Given the description of an element on the screen output the (x, y) to click on. 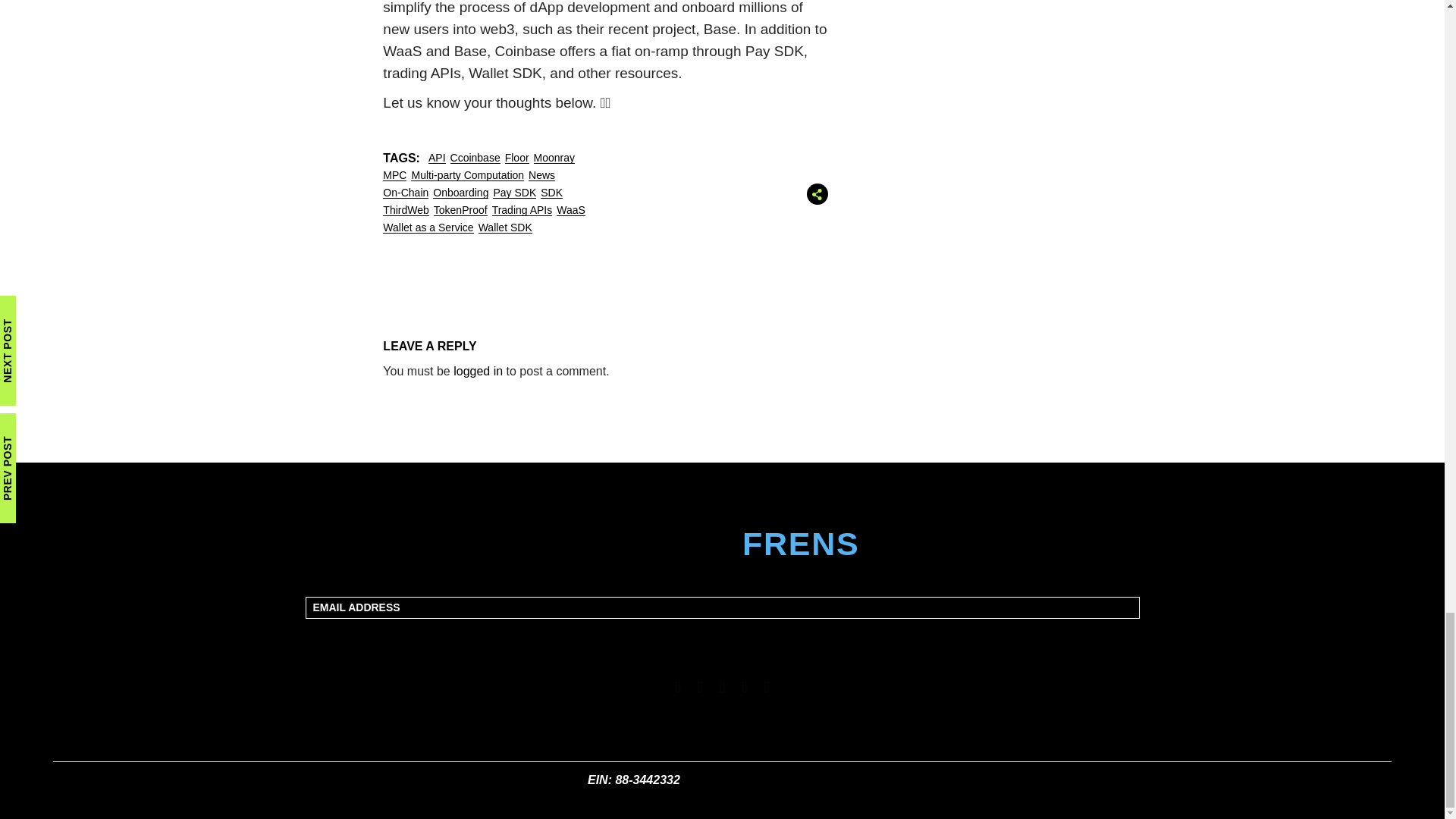
Onboarding (459, 192)
SUBSCRIBE (722, 636)
Ccoinbase (474, 157)
MPC (394, 175)
API (436, 157)
Moonray (554, 157)
Floor (517, 157)
On-Chain (405, 192)
News (541, 175)
Multi-party Computation (467, 175)
